Given the description of an element on the screen output the (x, y) to click on. 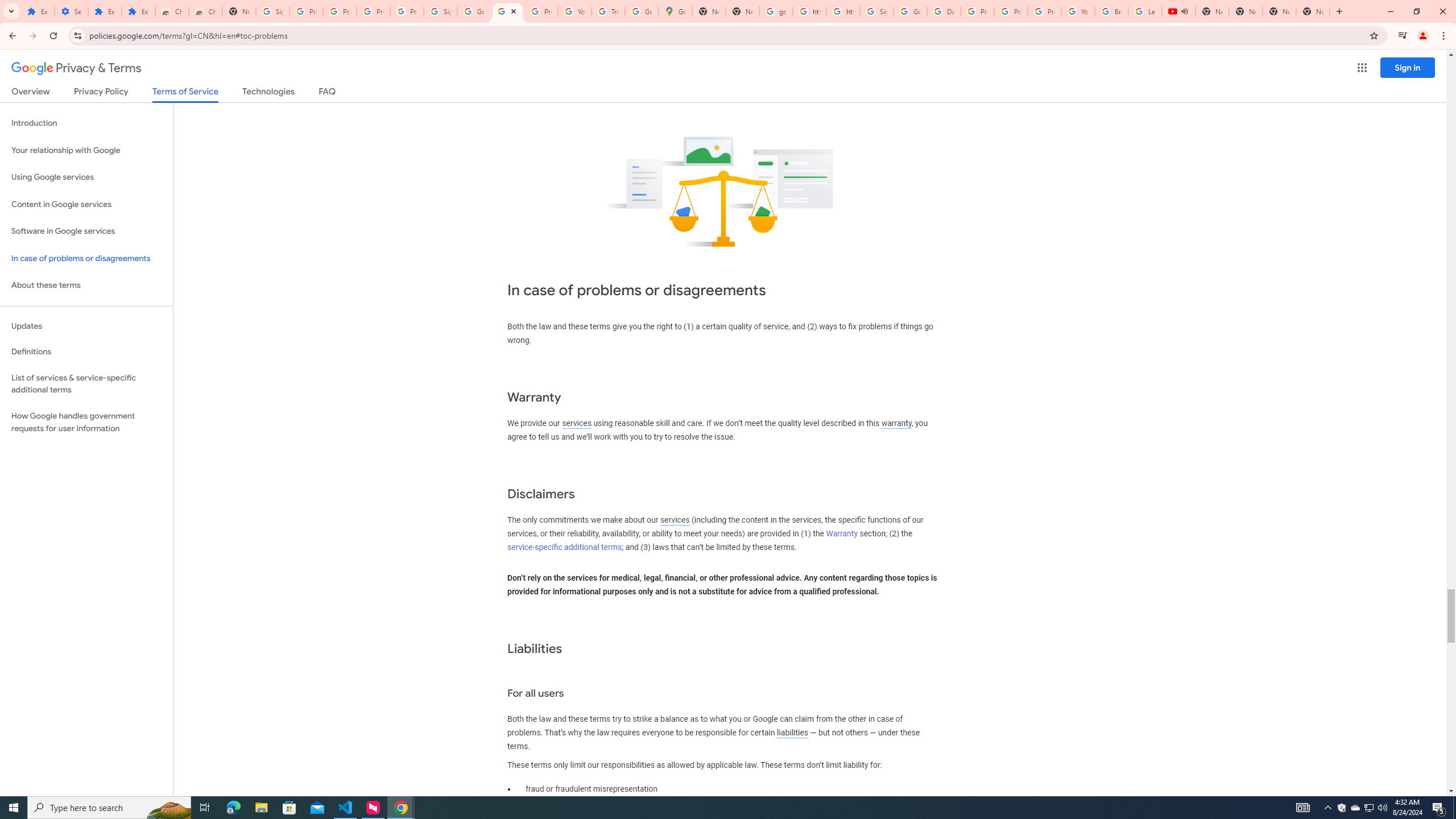
Chrome Web Store - Themes (205, 11)
